Given the description of an element on the screen output the (x, y) to click on. 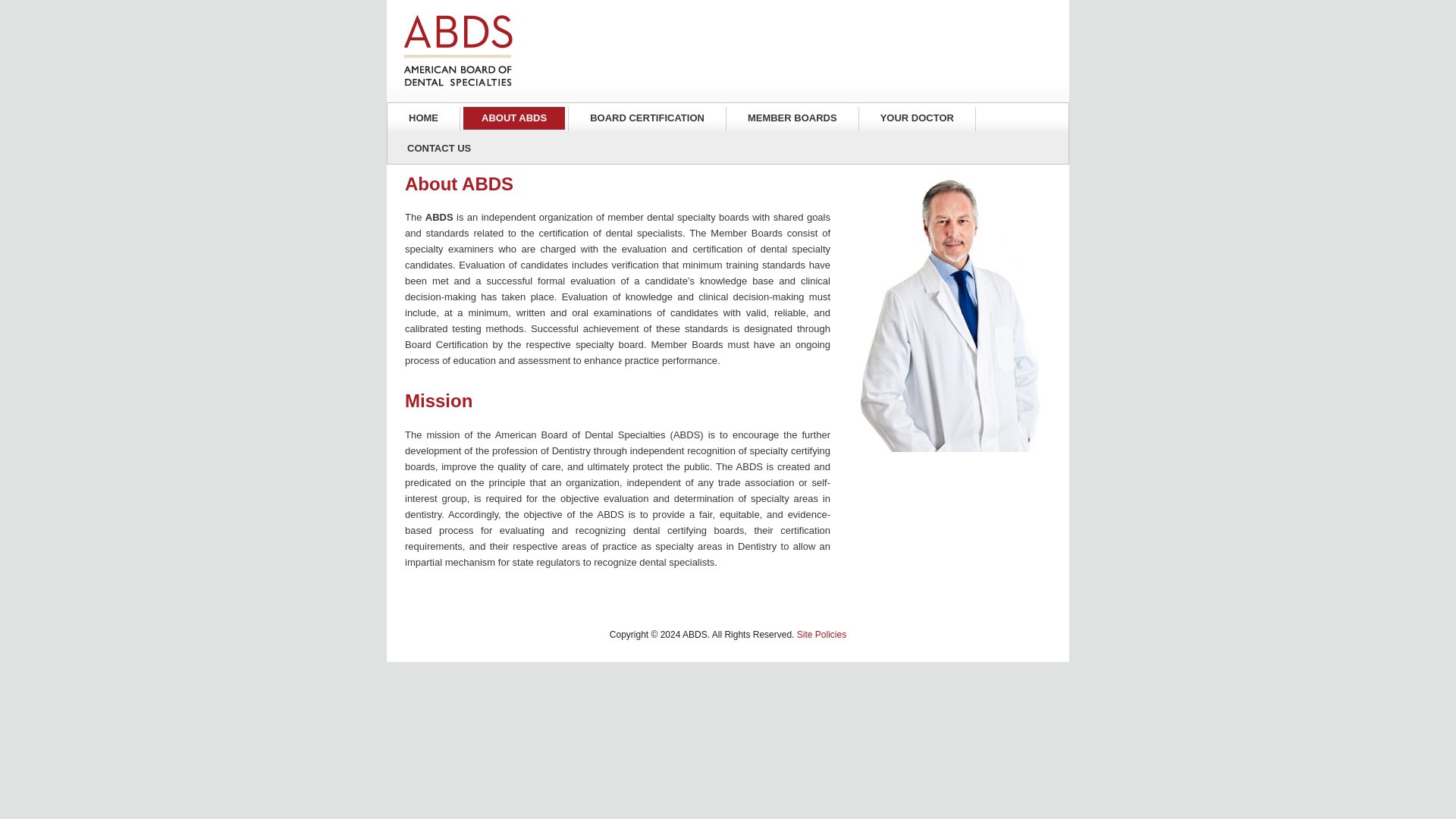
Contact Us (437, 148)
Board Certification (647, 118)
Home (423, 118)
Your Doctor (916, 118)
About ABDS (513, 118)
ADBS (459, 51)
YOUR DOCTOR (916, 118)
Site Policies (820, 634)
ABOUT ABDS (513, 118)
MEMBER BOARDS (792, 118)
HOME (423, 118)
CONTACT US (437, 148)
Member Boards (792, 118)
BOARD CERTIFICATION (647, 118)
